Given the description of an element on the screen output the (x, y) to click on. 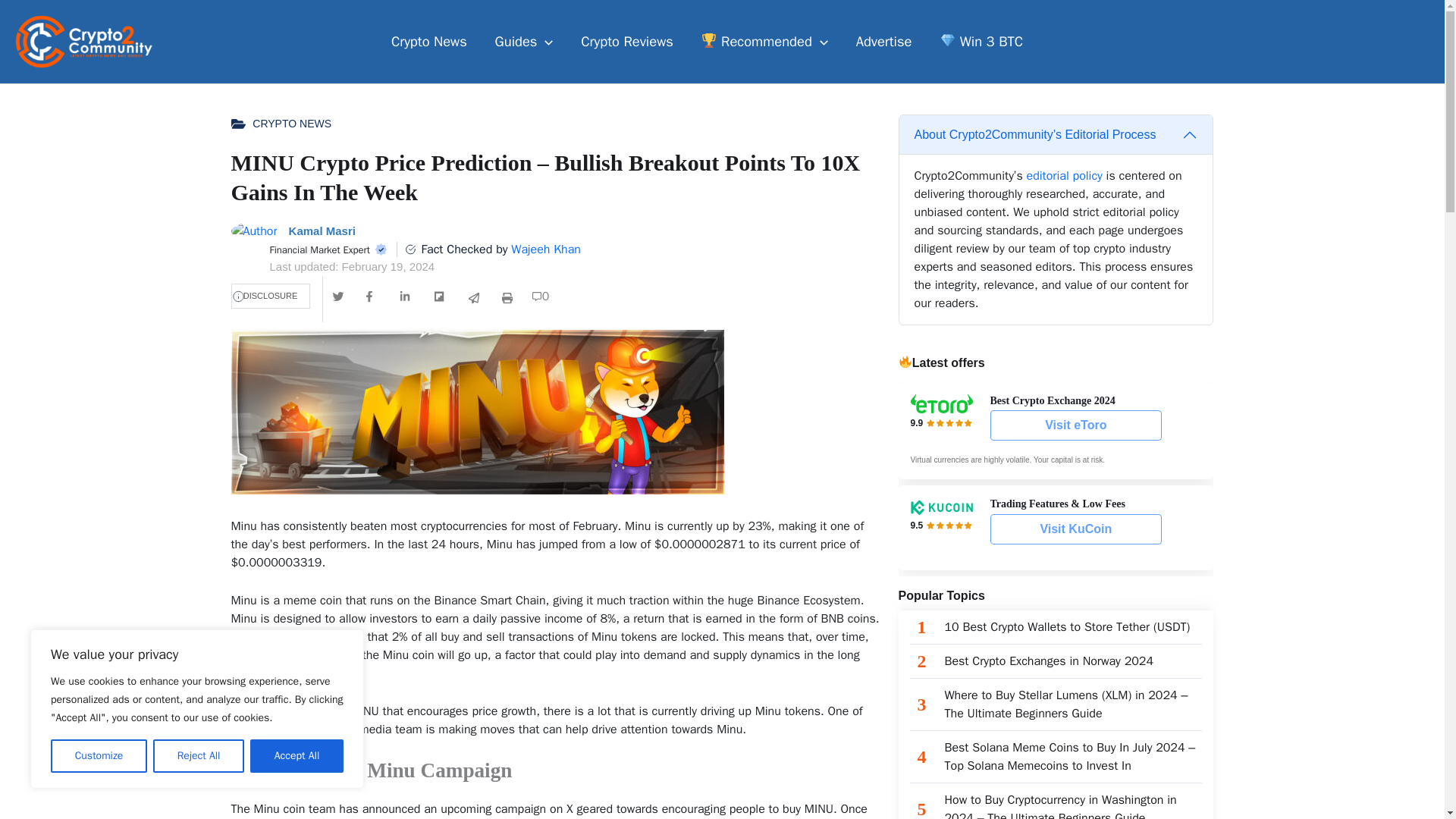
Recommended (764, 41)
Share via Flipboard (439, 296)
Jump to Comments (540, 296)
Guides (523, 41)
Reject All (198, 756)
Crypto News (429, 41)
Share via Email (473, 297)
Accept All (296, 756)
Share via Twitter (338, 296)
Print this article (507, 297)
Share via LinkedIn (405, 296)
Crypto Reviews (627, 41)
Share via Facebook (371, 296)
Customize (98, 756)
